Given the description of an element on the screen output the (x, y) to click on. 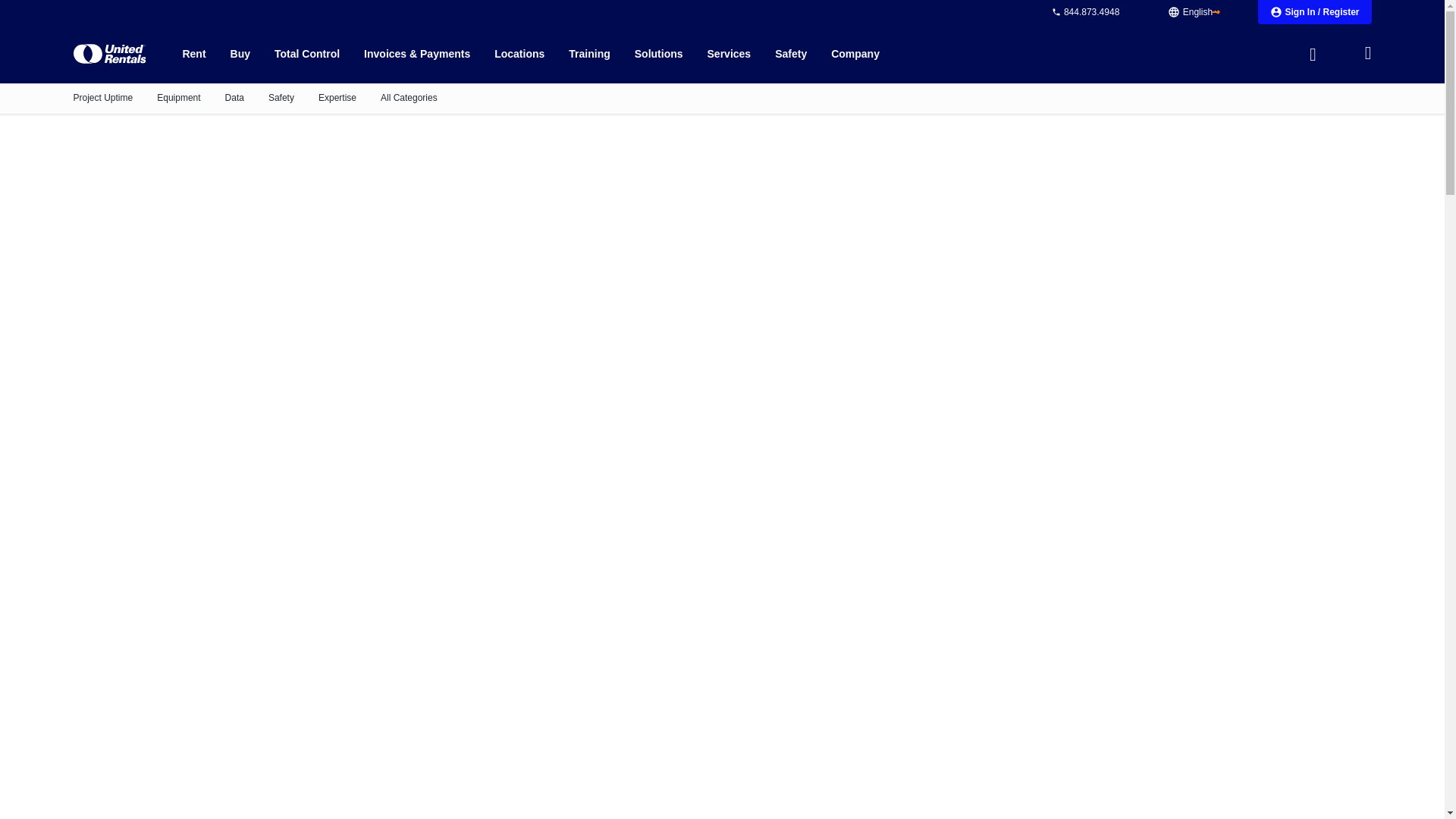
Rent (193, 53)
844.873.4948 (1085, 11)
English (1194, 12)
English (1194, 12)
Buy (240, 53)
Customer Service Number (1085, 11)
